Given the description of an element on the screen output the (x, y) to click on. 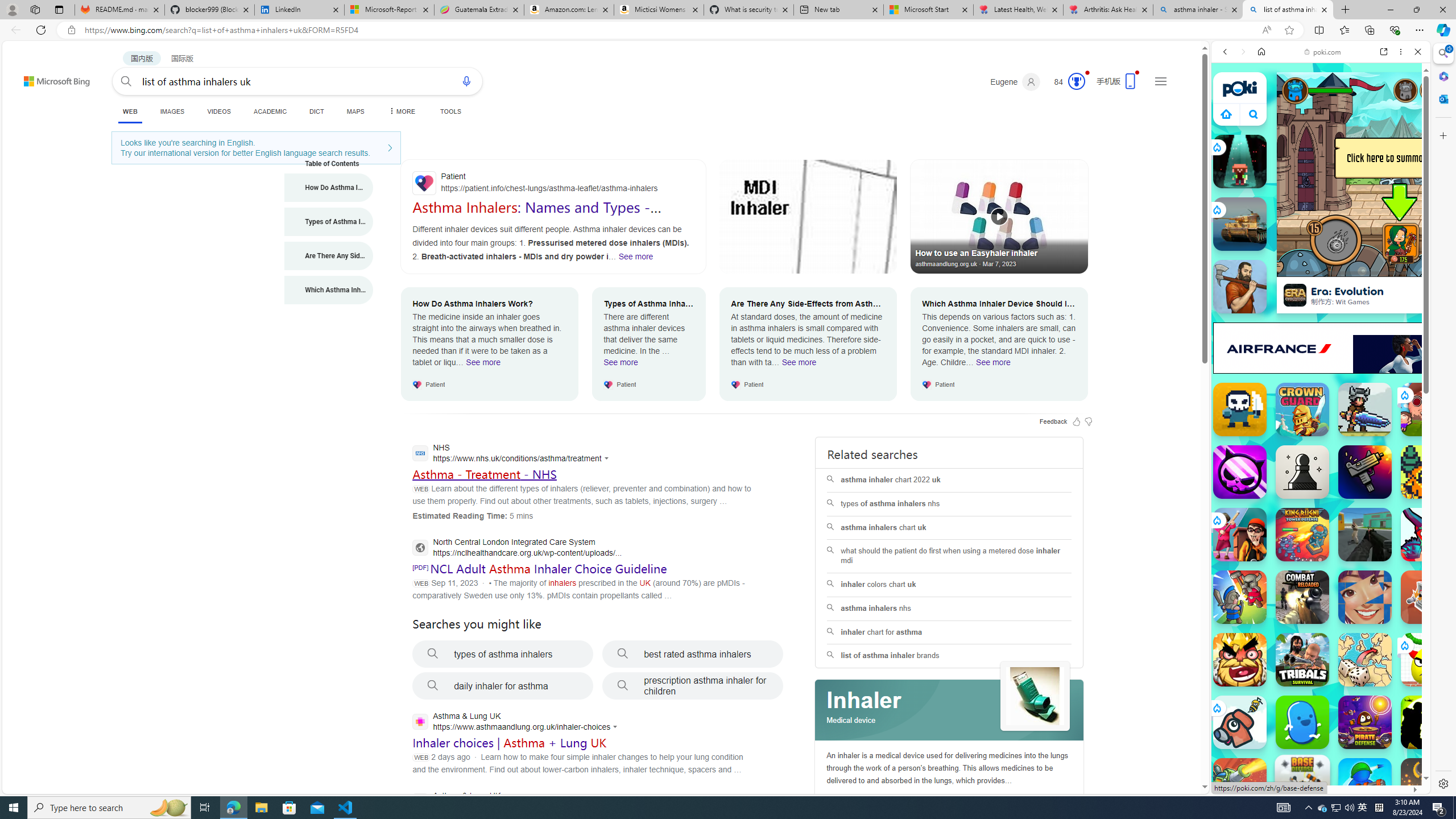
Combat Reloaded Combat Reloaded poki.com (1349, 548)
Combat Reloaded (1302, 597)
Search button (126, 80)
Are There Any Side-Effects from Asthma Inhalers? (328, 255)
North Central London Integrated Care System (516, 549)
King Rugni (1302, 534)
LinkedIn (298, 9)
prescription asthma inhaler for children (692, 685)
Asthma & Lung UK (513, 802)
Castle Woodwarf Castle Woodwarf (1239, 286)
